Given the description of an element on the screen output the (x, y) to click on. 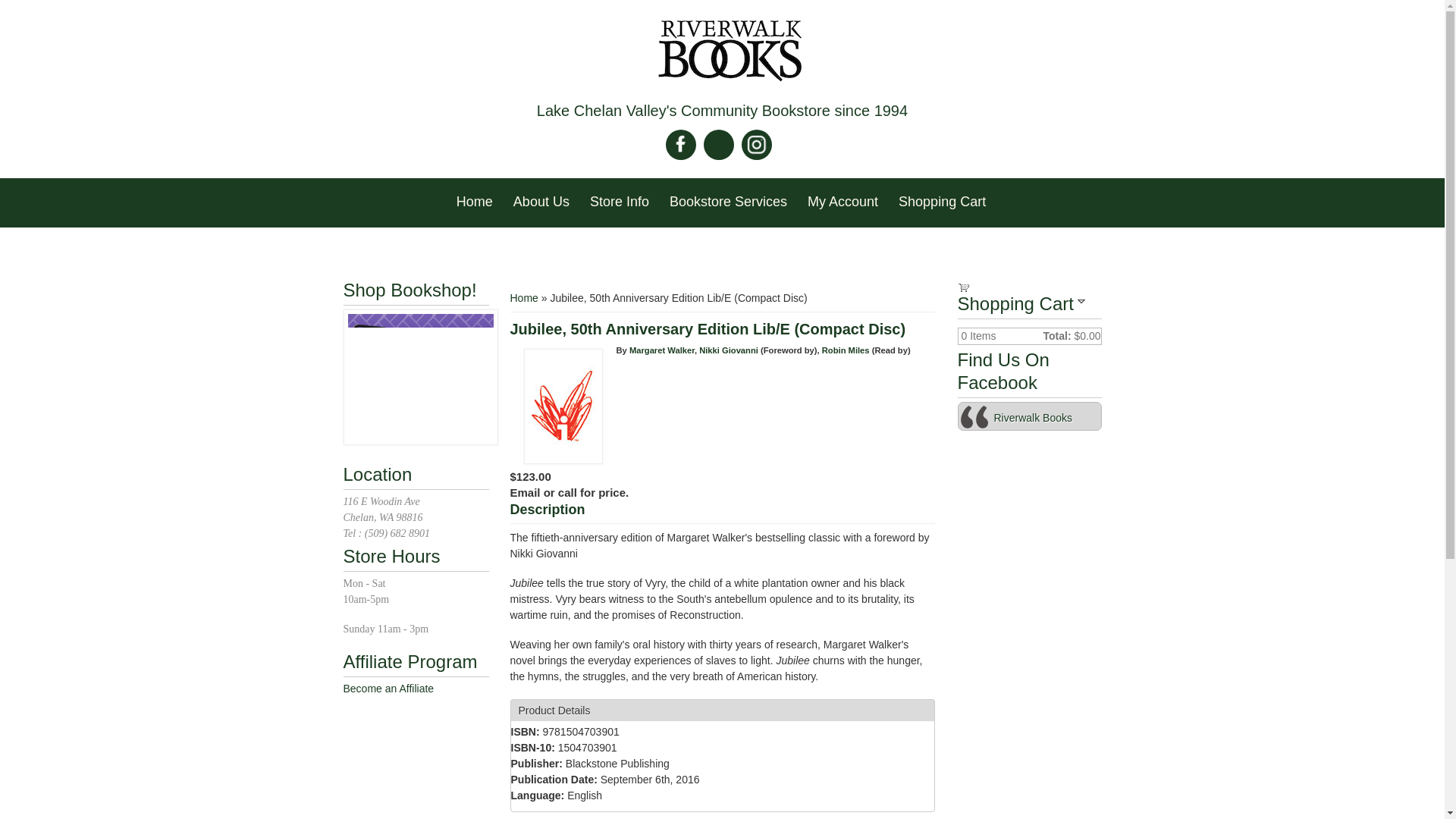
Nikki Giovanni (728, 349)
Shopping Cart (941, 202)
Home (474, 202)
Home (729, 51)
Store Info (619, 202)
About Us (540, 202)
Home (523, 297)
My Account (841, 202)
Become an Affiliate (387, 688)
Riverwalk Books (1031, 417)
